Given the description of an element on the screen output the (x, y) to click on. 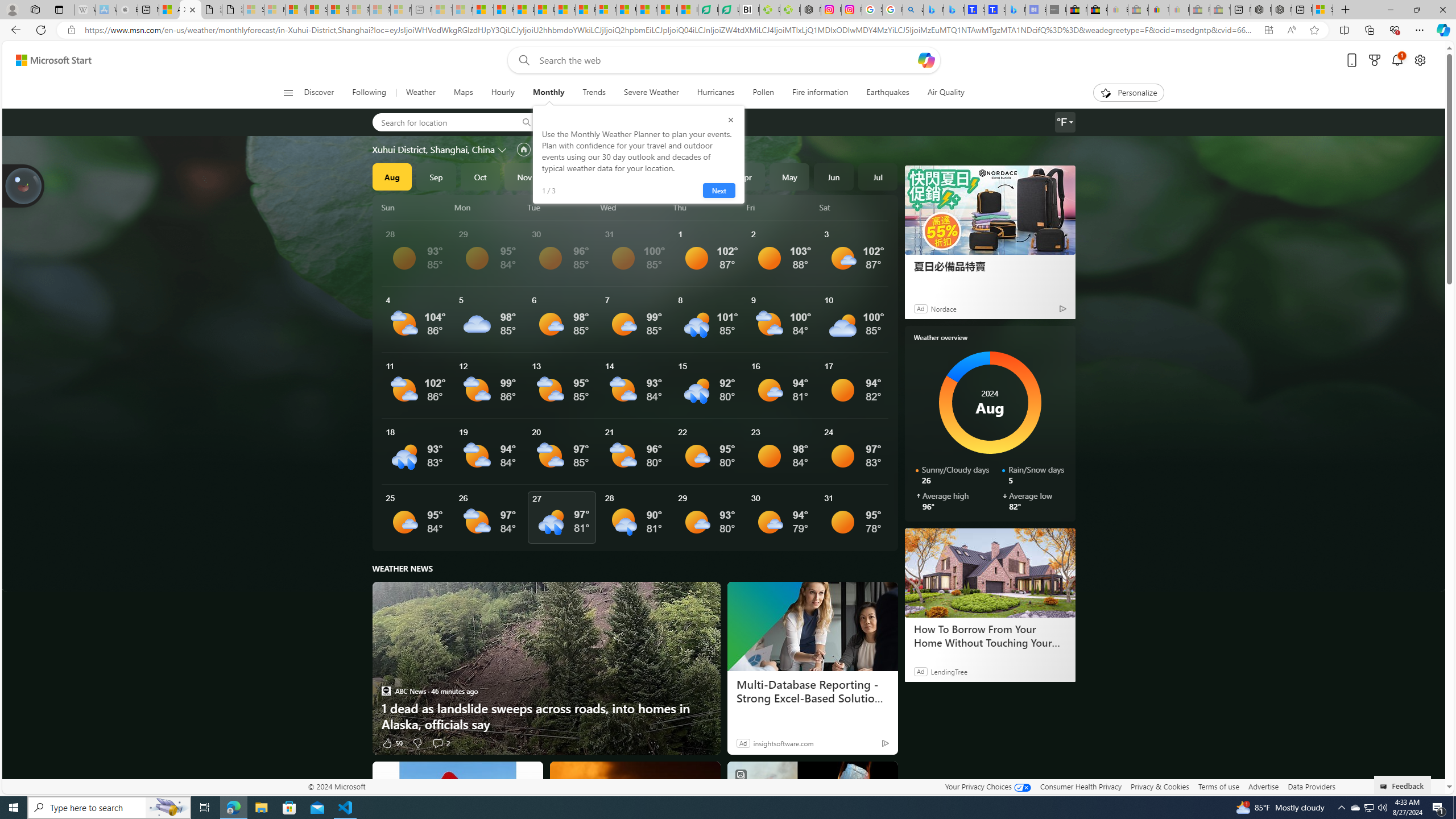
View comments 2 Comment (440, 742)
Pollen (763, 92)
Marine life - MSN - Sleeping (461, 9)
AutomationID: donut-chart-monthly (990, 402)
Data Providers (1311, 786)
